Given the description of an element on the screen output the (x, y) to click on. 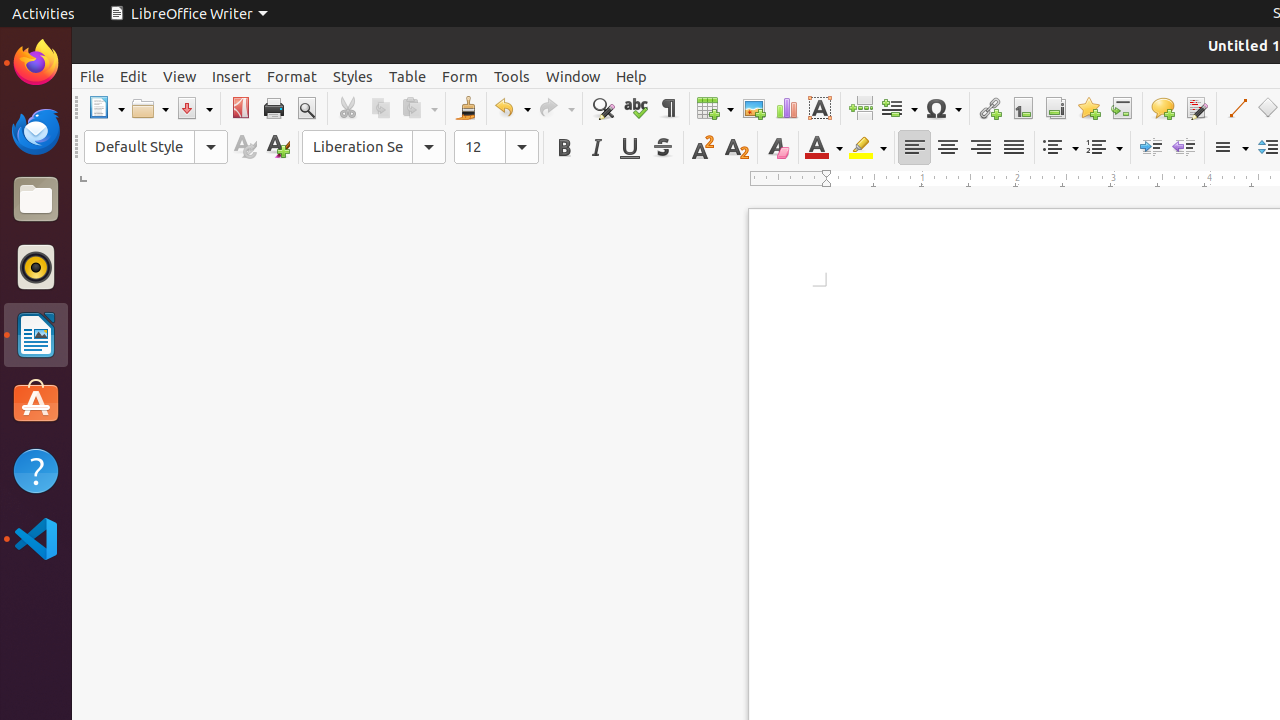
Update Element type: push-button (244, 147)
Right Element type: toggle-button (980, 147)
Page Break Element type: push-button (860, 108)
Footnote Element type: push-button (1022, 108)
Underline Element type: push-button (629, 147)
